Given the description of an element on the screen output the (x, y) to click on. 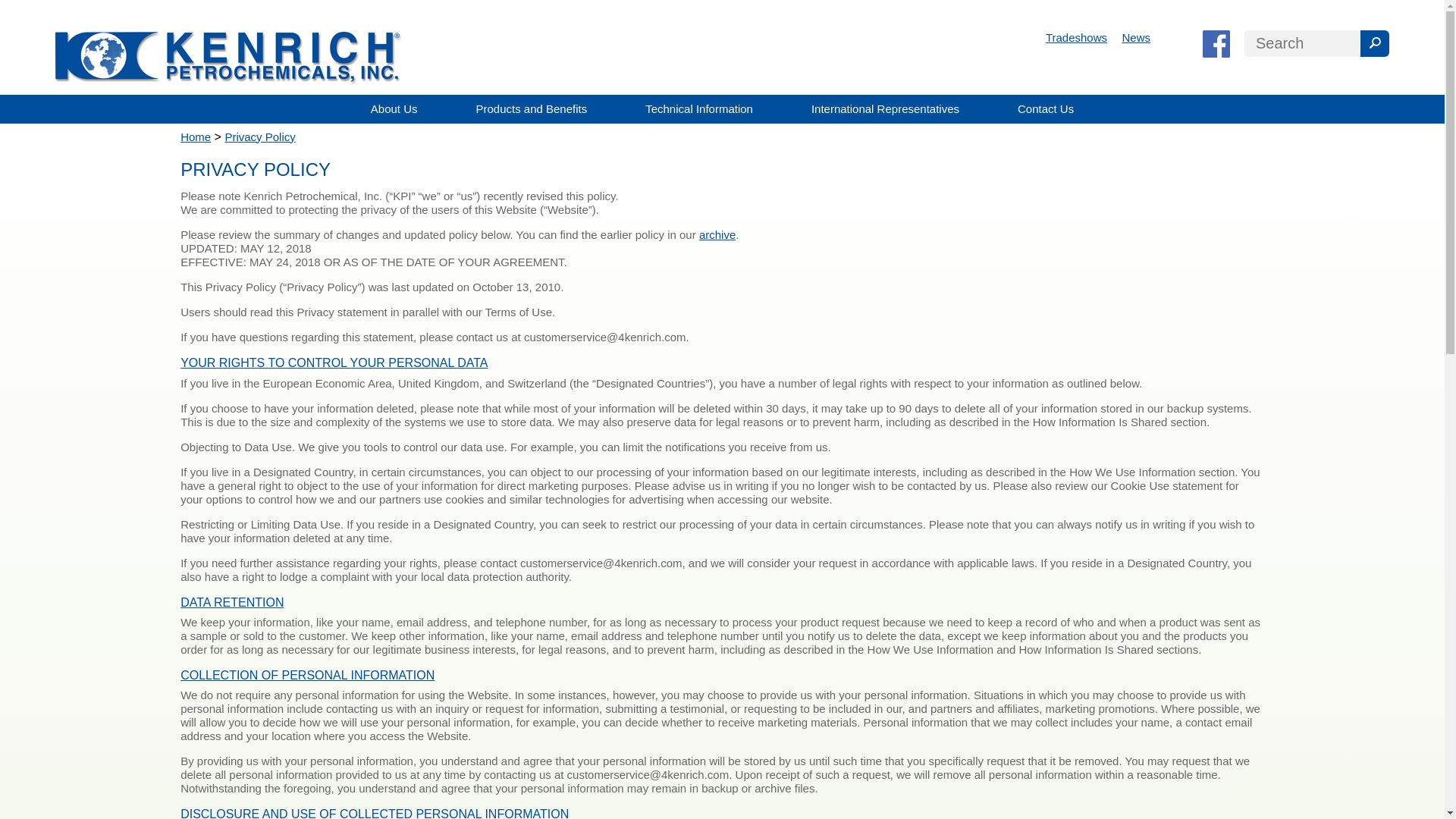
Contact Us (1046, 109)
About Us (394, 109)
Technical Information (699, 109)
Search (1301, 43)
archive (716, 234)
Go to Privacy Policy. (259, 136)
Go to Kenrich Petrochemicals. (195, 136)
Home (195, 136)
International Representatives (885, 109)
News (1136, 37)
